Given the description of an element on the screen output the (x, y) to click on. 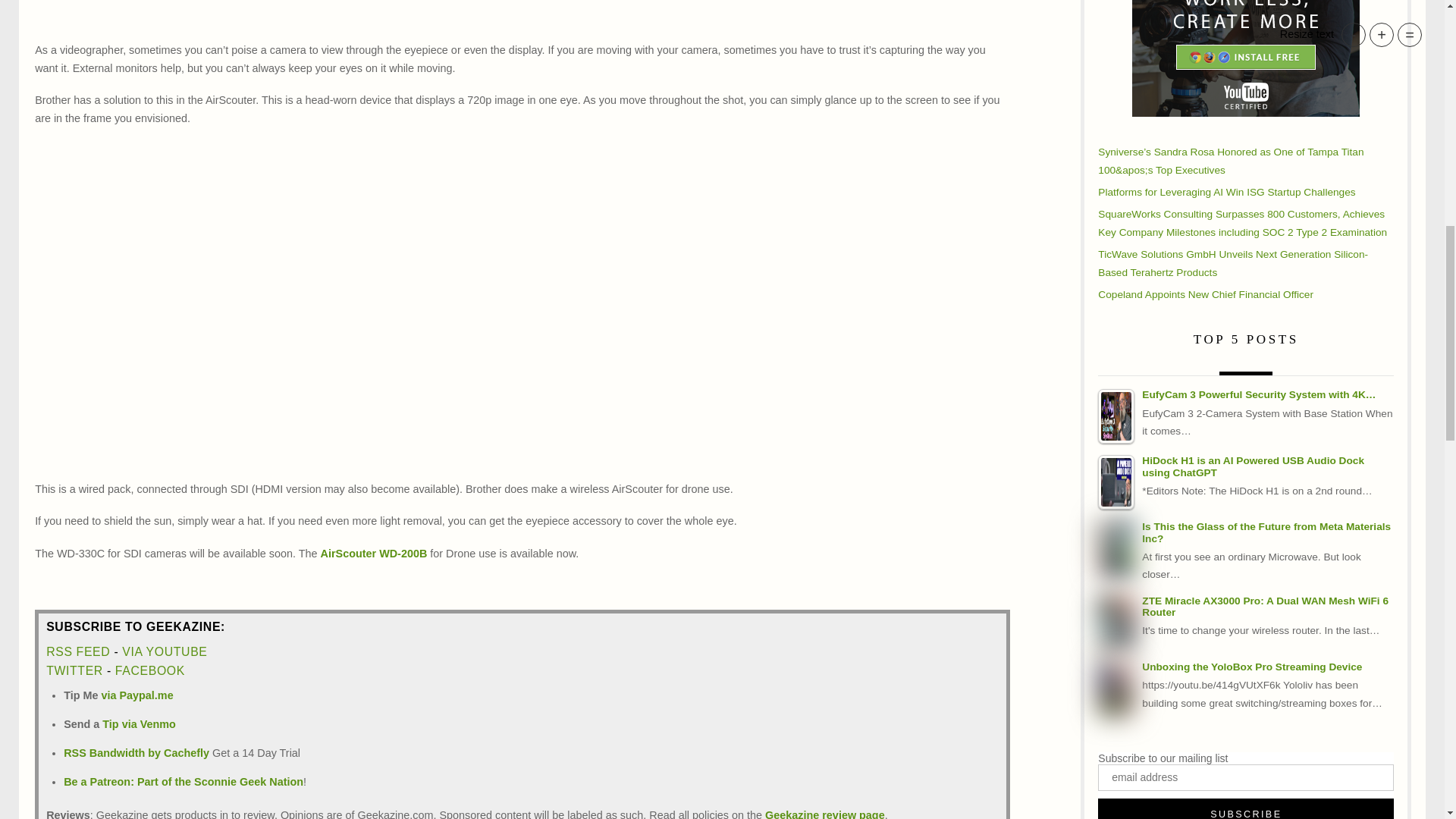
Subscribe (1245, 808)
